Given the description of an element on the screen output the (x, y) to click on. 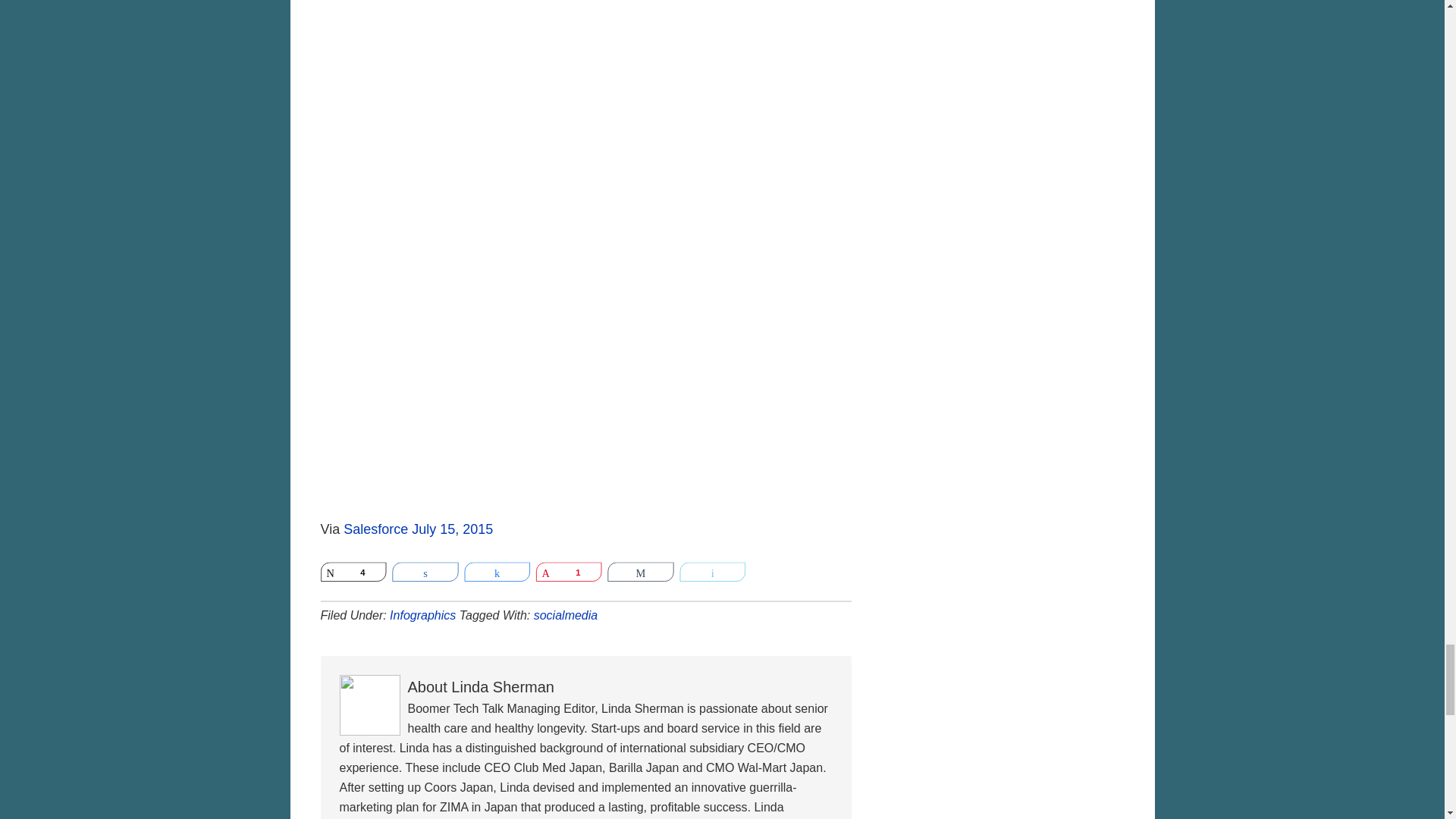
Infographics (422, 615)
Salesforce July 15, 2015 (418, 529)
1 (575, 573)
4 (360, 573)
